Given the description of an element on the screen output the (x, y) to click on. 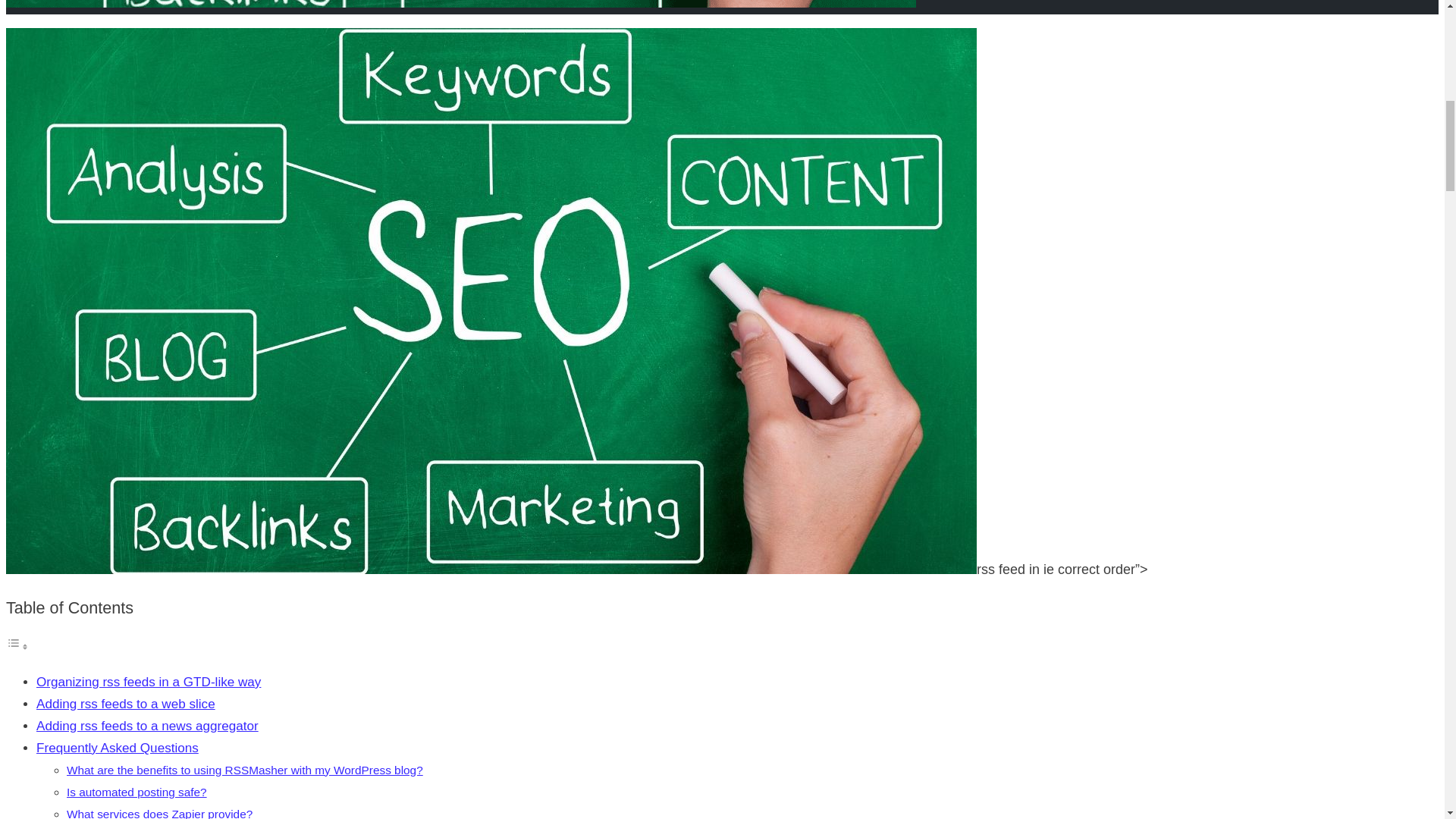
Adding rss feeds to a web slice (125, 703)
What services does Zapier provide? (158, 813)
Adding rss feeds to a web slice (125, 703)
Is automated posting safe? (158, 813)
Frequently Asked Questions (136, 791)
Organizing rss feeds in a GTD-like way (117, 748)
Organizing rss feeds in a GTD-like way (148, 681)
Adding rss feeds to a news aggregator (136, 791)
Frequently Asked Questions (148, 681)
Adding rss feeds to a news aggregator (147, 726)
